Given the description of an element on the screen output the (x, y) to click on. 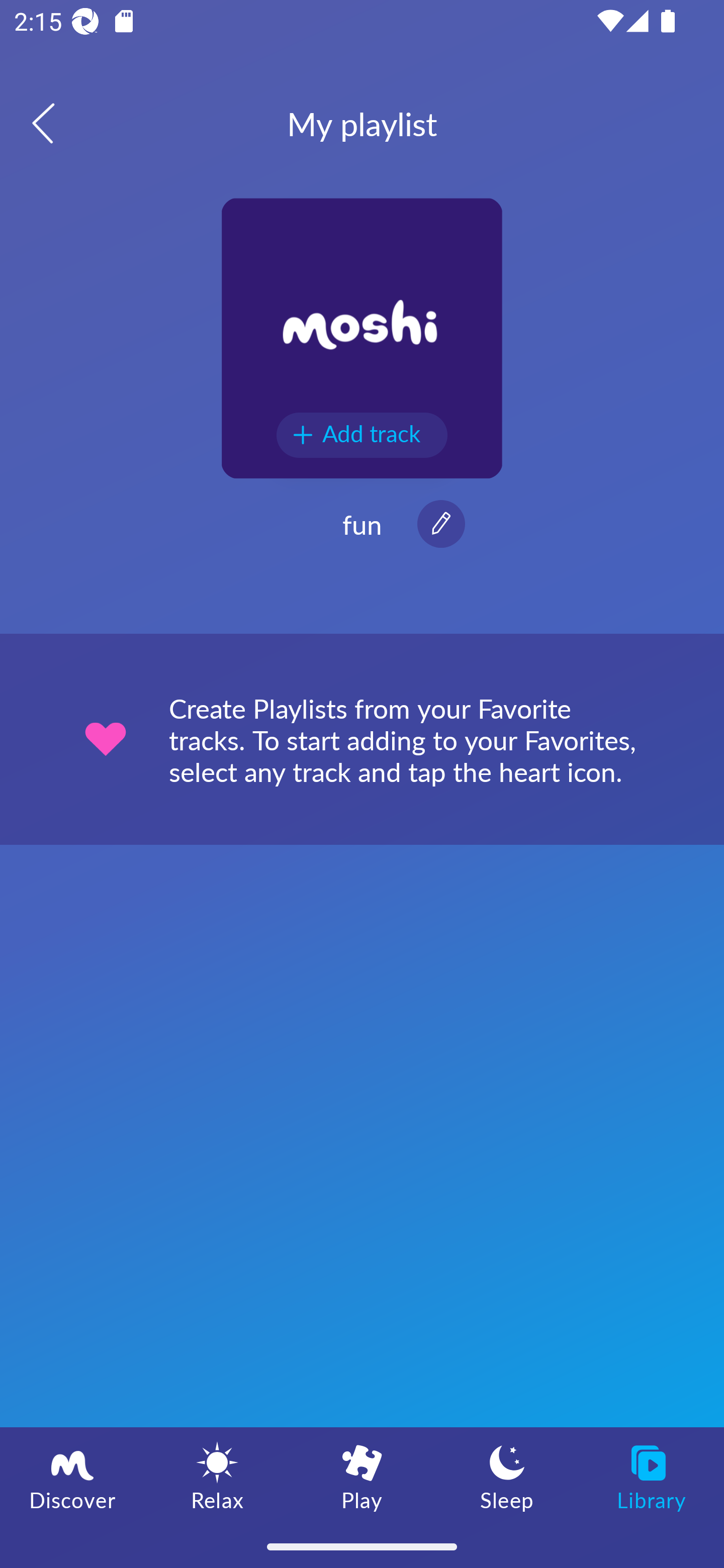
Add track (361, 434)
Discover (72, 1475)
Relax (216, 1475)
Play (361, 1475)
Sleep (506, 1475)
